Given the description of an element on the screen output the (x, y) to click on. 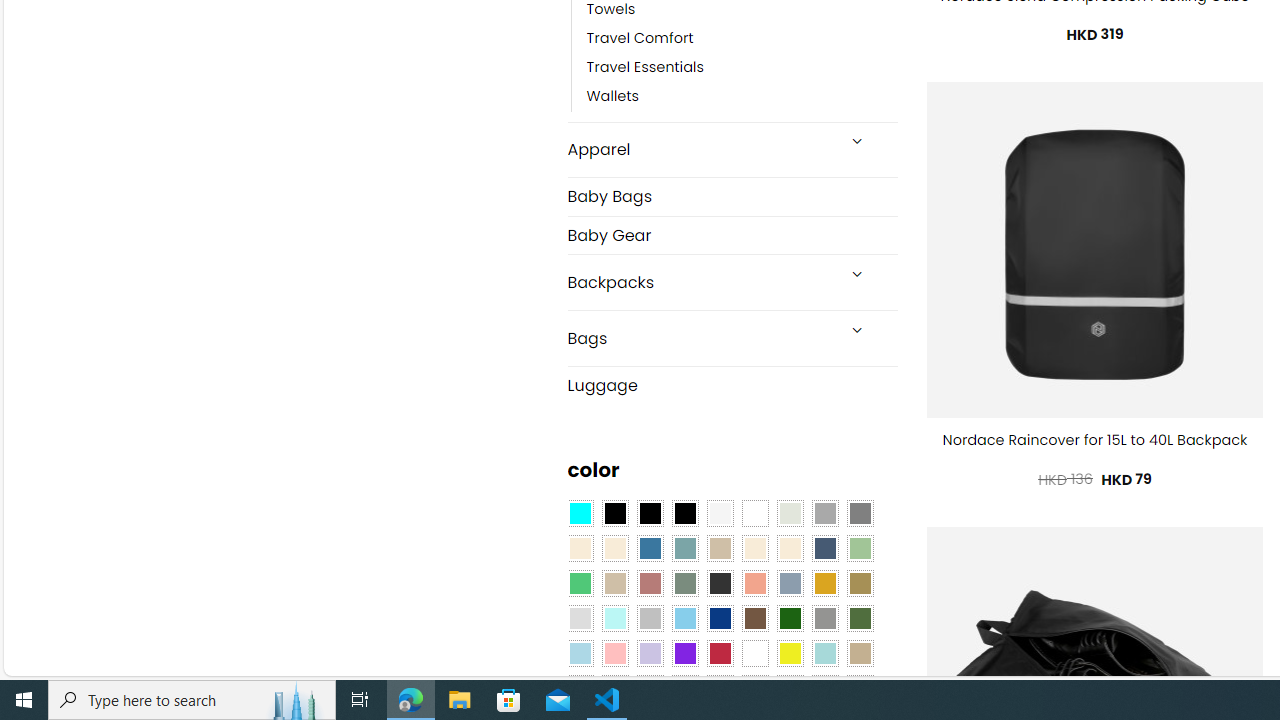
Black (650, 514)
Sage (684, 583)
Wallets (742, 97)
Hale Navy (824, 548)
Dark Green (789, 619)
Pink (614, 653)
Green (859, 619)
Apparel (700, 150)
Beige-Brown (614, 548)
Sky Blue (684, 619)
Caramel (755, 548)
Pearly White (719, 514)
Yellow (789, 653)
